Given the description of an element on the screen output the (x, y) to click on. 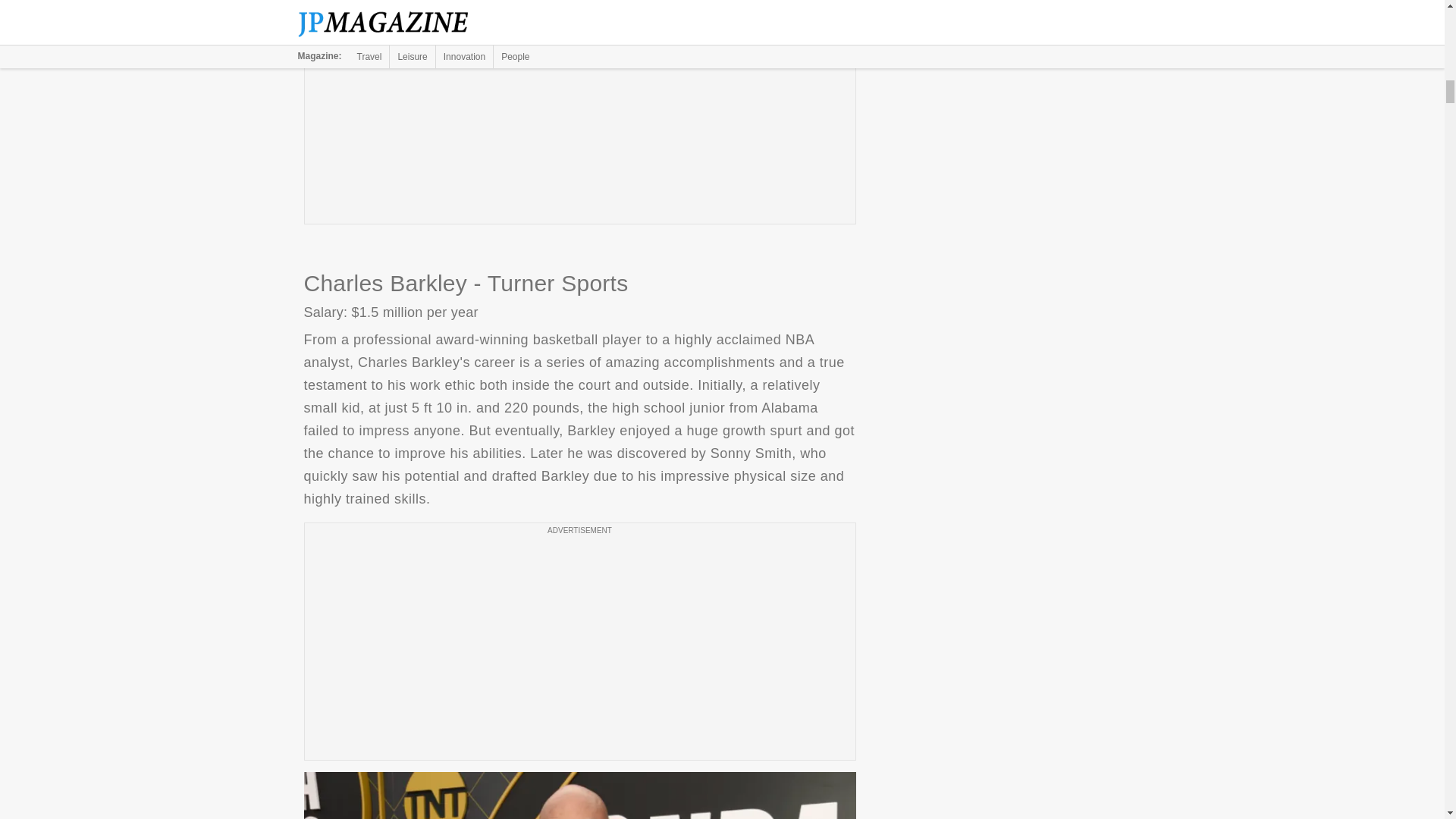
Charles Barkley - Turner Sports (579, 795)
